Given the description of an element on the screen output the (x, y) to click on. 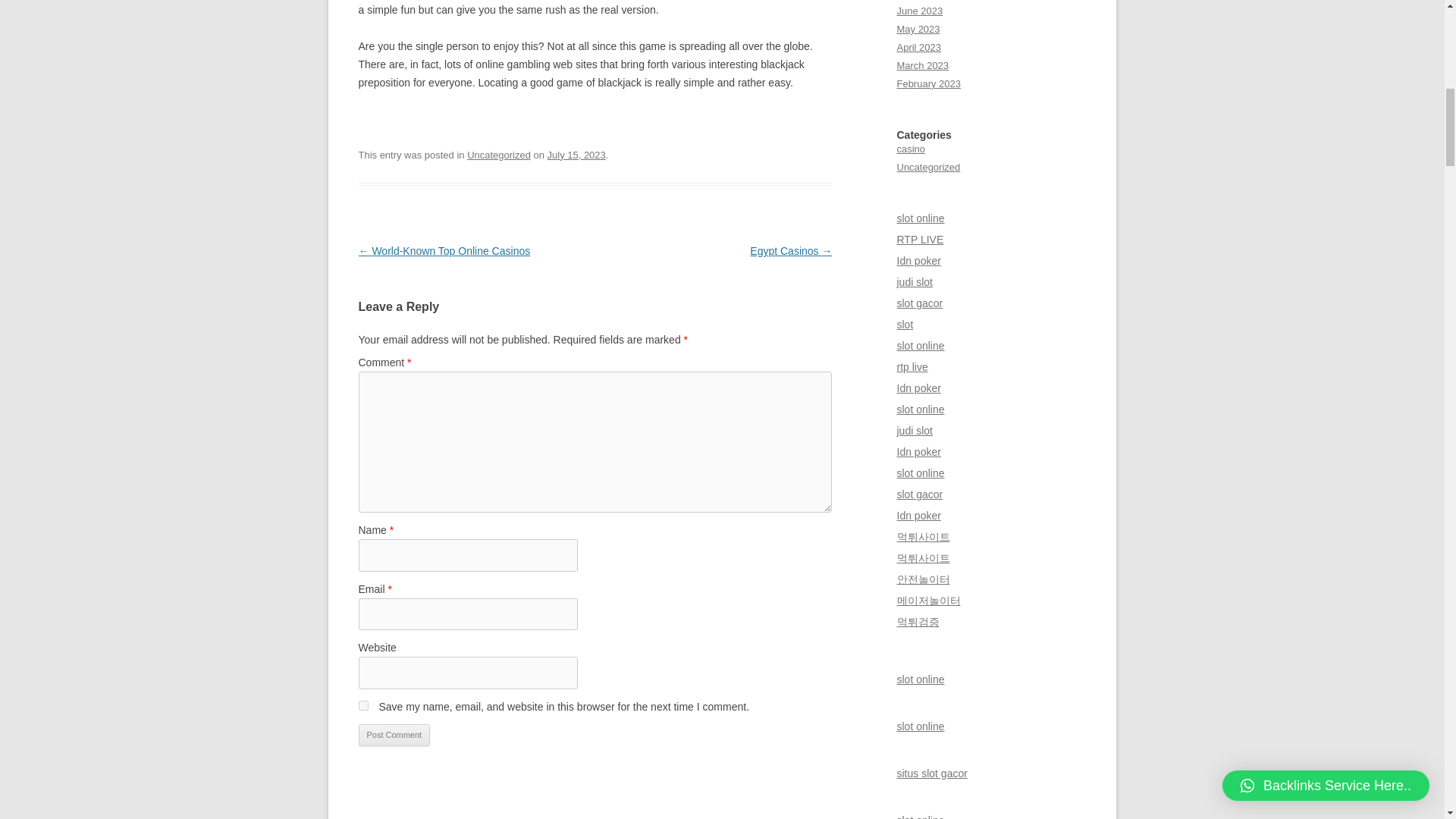
June 2023 (919, 10)
Uncategorized (499, 154)
Post Comment (393, 734)
April 2023 (918, 47)
May 2023 (917, 29)
July 15, 2023 (576, 154)
Post Comment (393, 734)
yes (363, 705)
1:44 pm (576, 154)
